Given the description of an element on the screen output the (x, y) to click on. 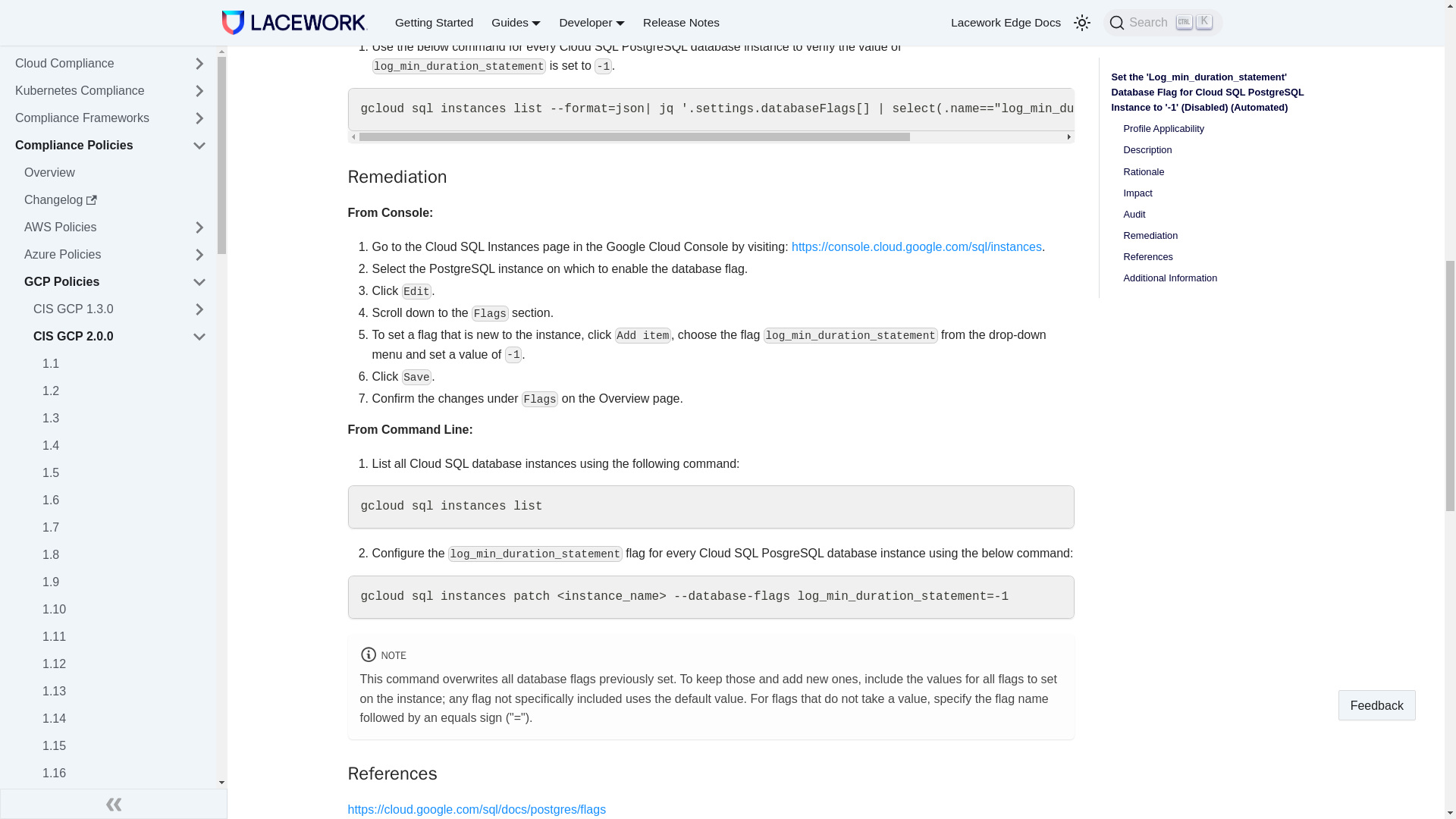
gcloud sql instances list (710, 506)
